Given the description of an element on the screen output the (x, y) to click on. 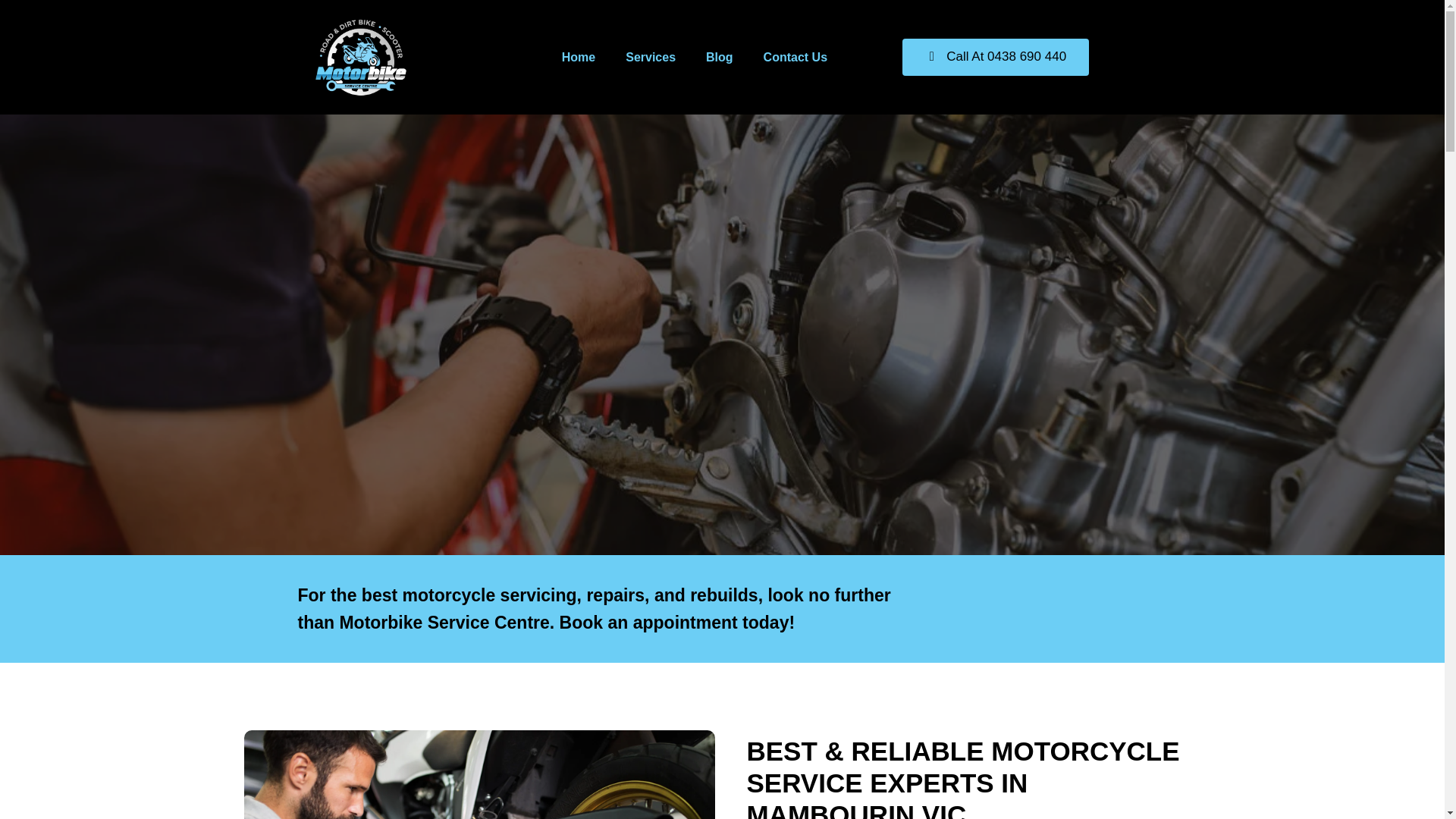
Blog (719, 56)
Contact Us (795, 56)
Call At 0438 690 440 (995, 56)
Home (578, 56)
Services (650, 56)
